Given the description of an element on the screen output the (x, y) to click on. 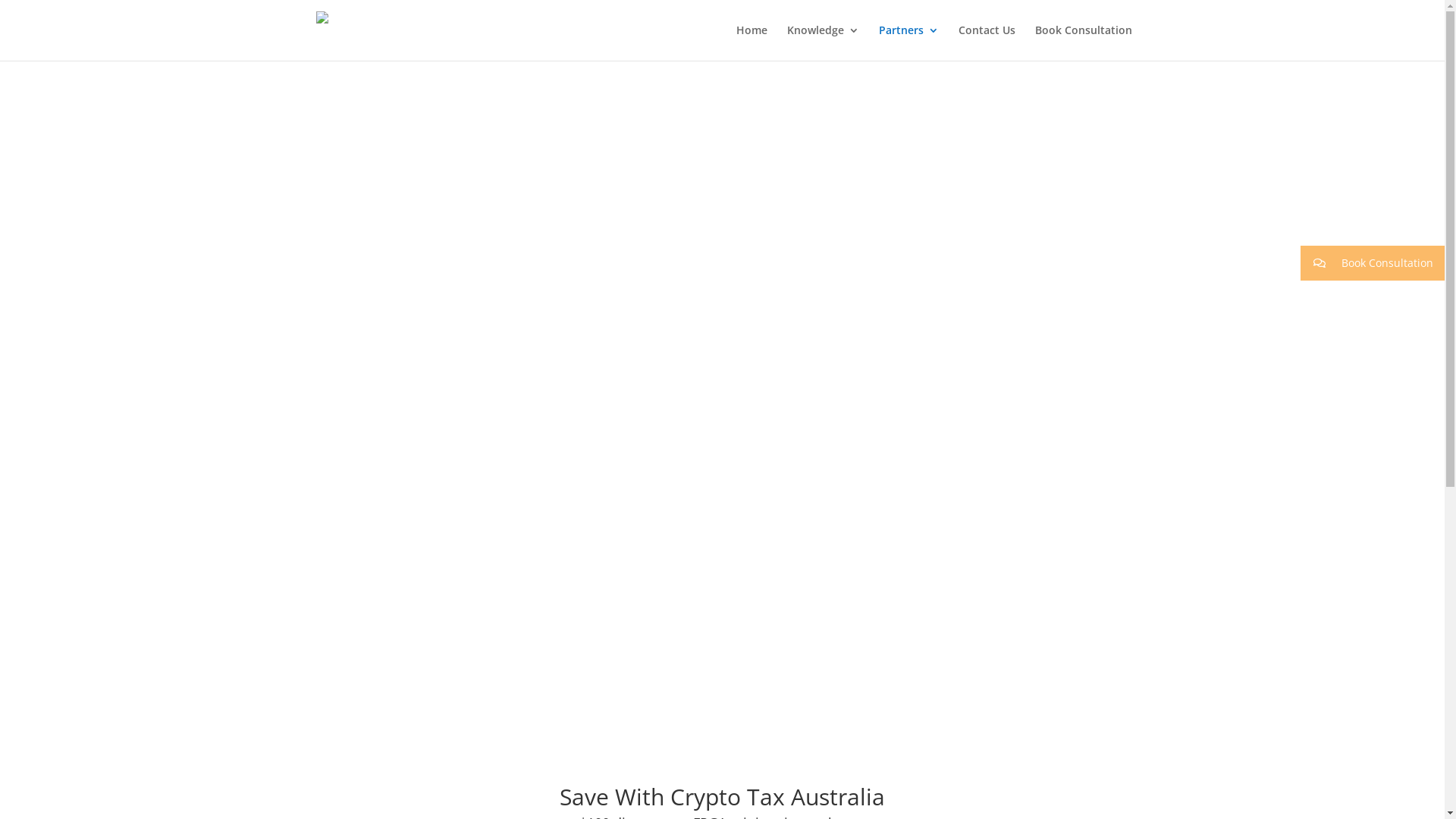
Home Element type: text (750, 42)
Contact Us Element type: text (986, 42)
Partners Element type: text (908, 42)
Knowledge Element type: text (823, 42)
Book Consultation Element type: text (1082, 42)
Book Consultation Element type: text (1372, 262)
